Given the description of an element on the screen output the (x, y) to click on. 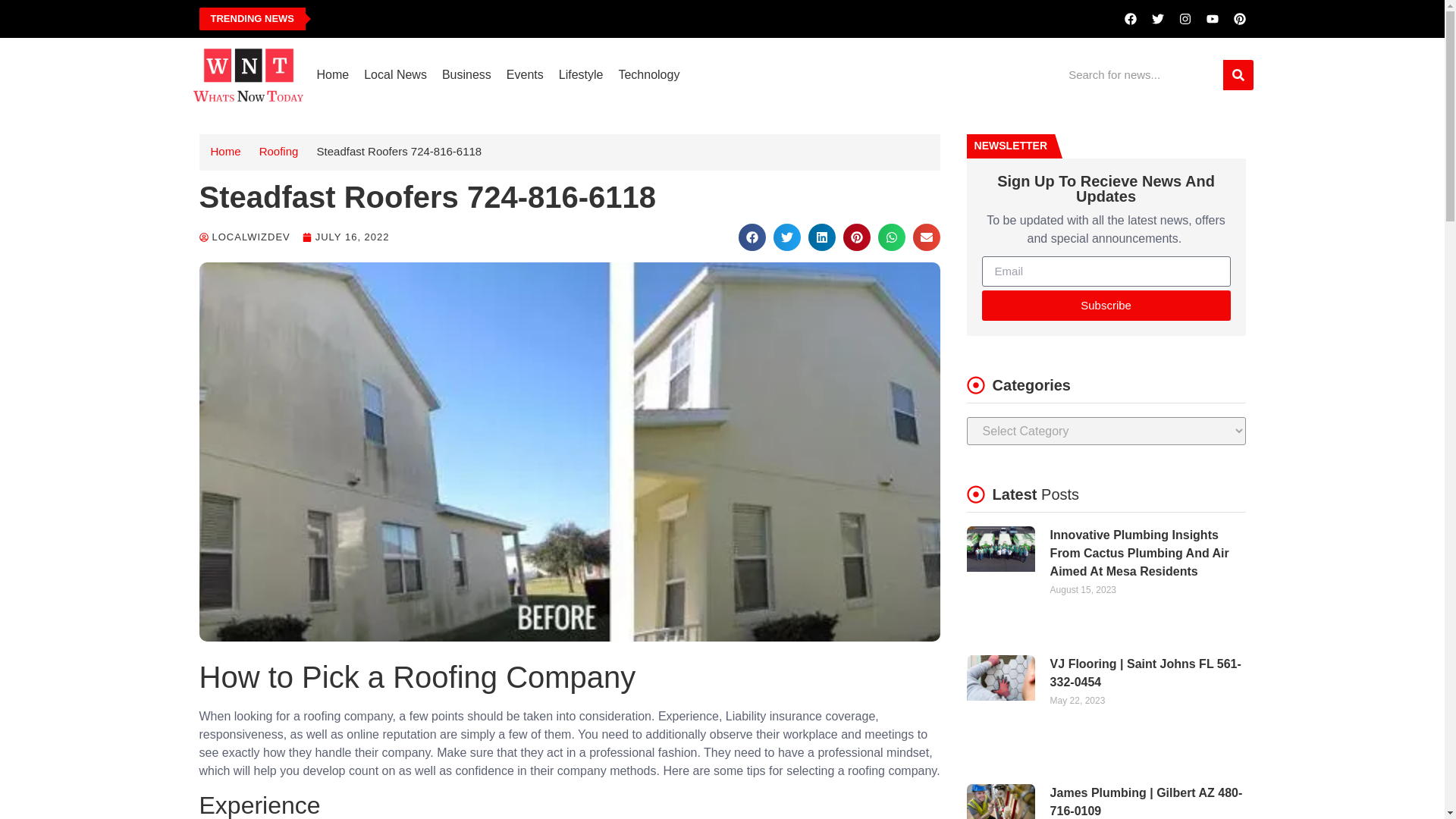
Home (226, 151)
Technology (648, 74)
Home (332, 74)
Local News (394, 74)
Lifestyle (580, 74)
Business (466, 74)
Roofing (278, 151)
Events (524, 74)
